Given the description of an element on the screen output the (x, y) to click on. 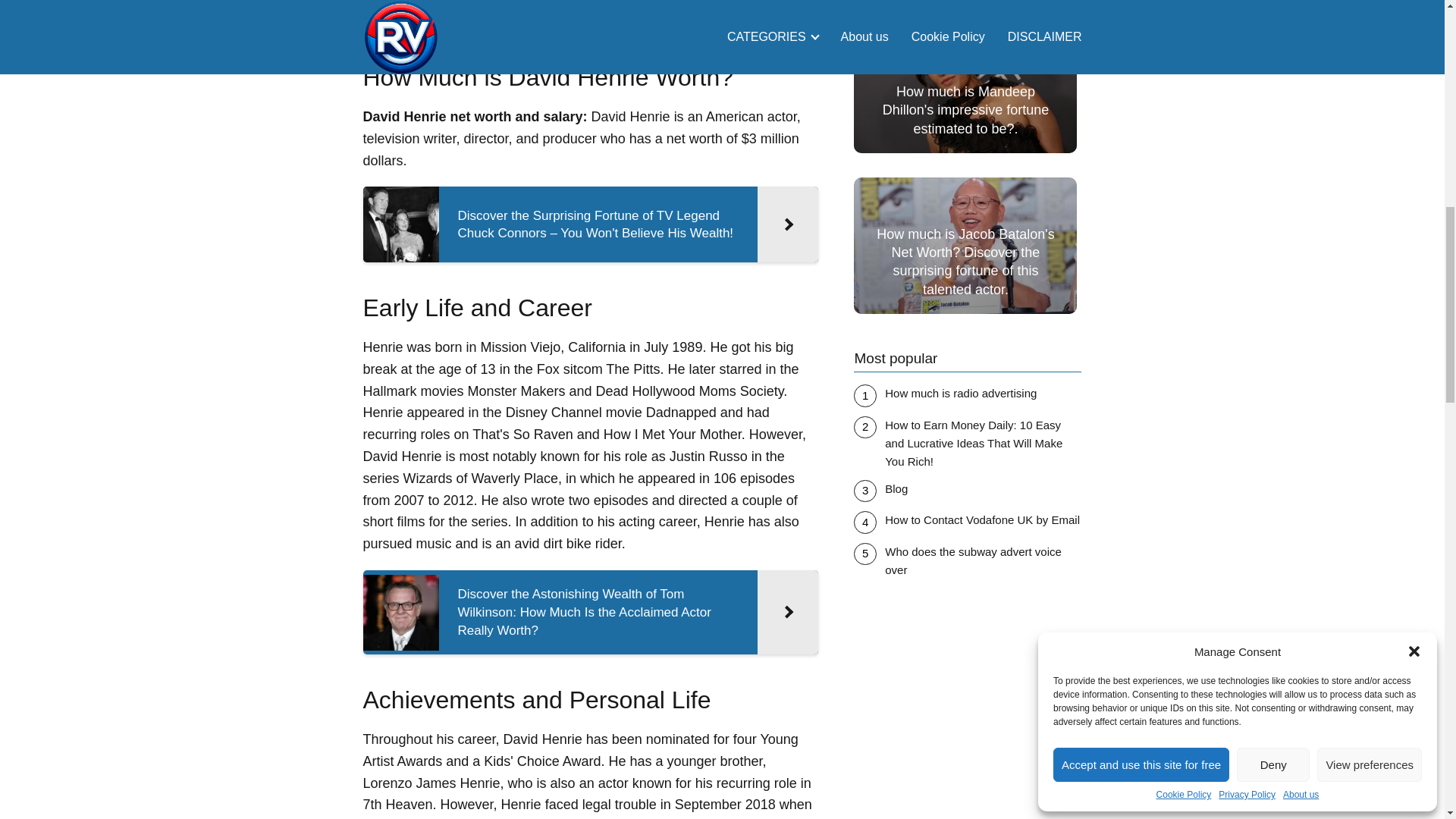
Conclusion (443, 4)
